Given the description of an element on the screen output the (x, y) to click on. 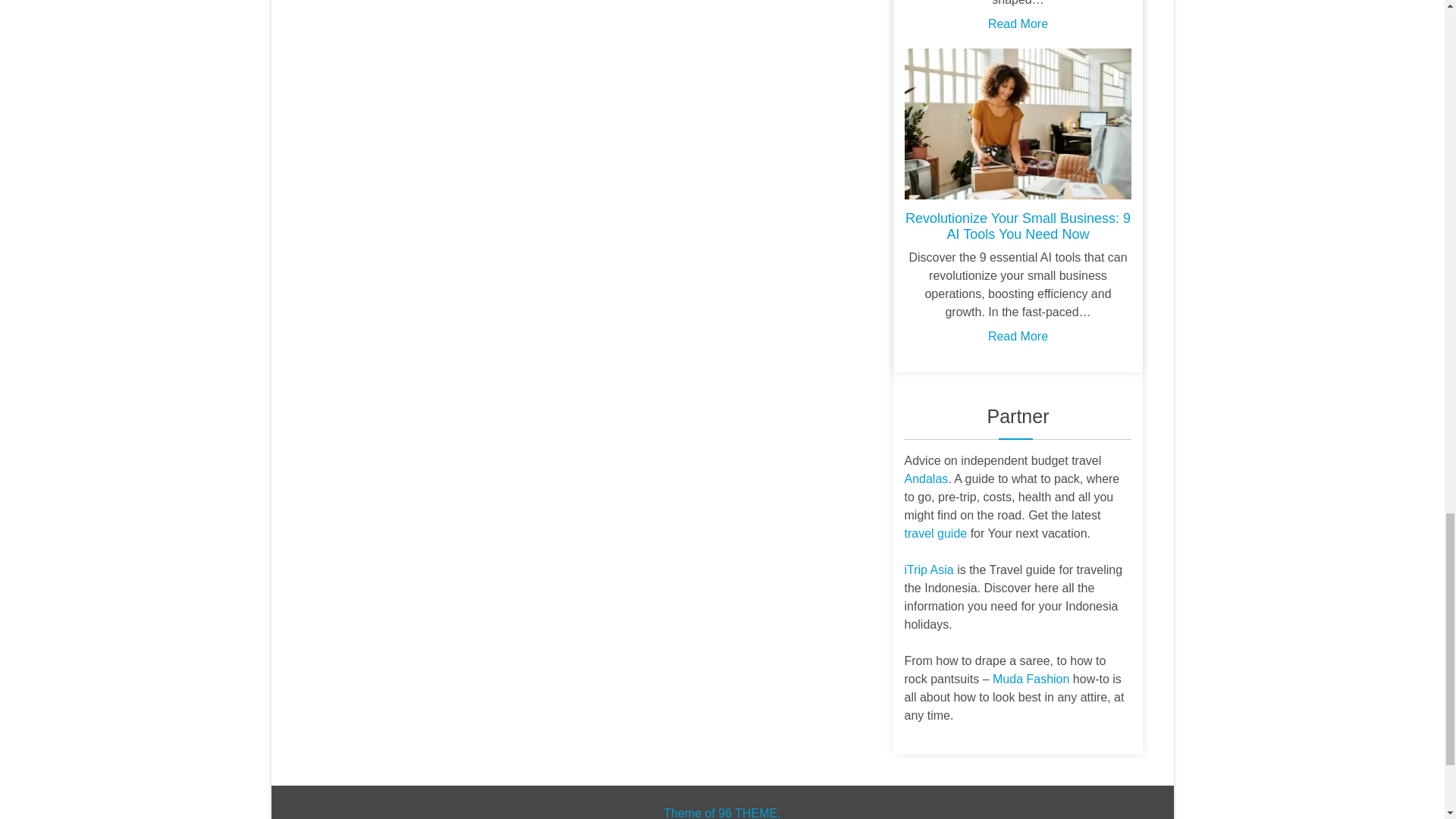
iTrip Asia (928, 569)
Read More (1018, 23)
travel guide (935, 533)
Muda Fashion (1030, 678)
Andalas (925, 478)
Revolutionize Your Small Business: 9 AI Tools You Need Now (1018, 225)
Read More (1018, 336)
